Given the description of an element on the screen output the (x, y) to click on. 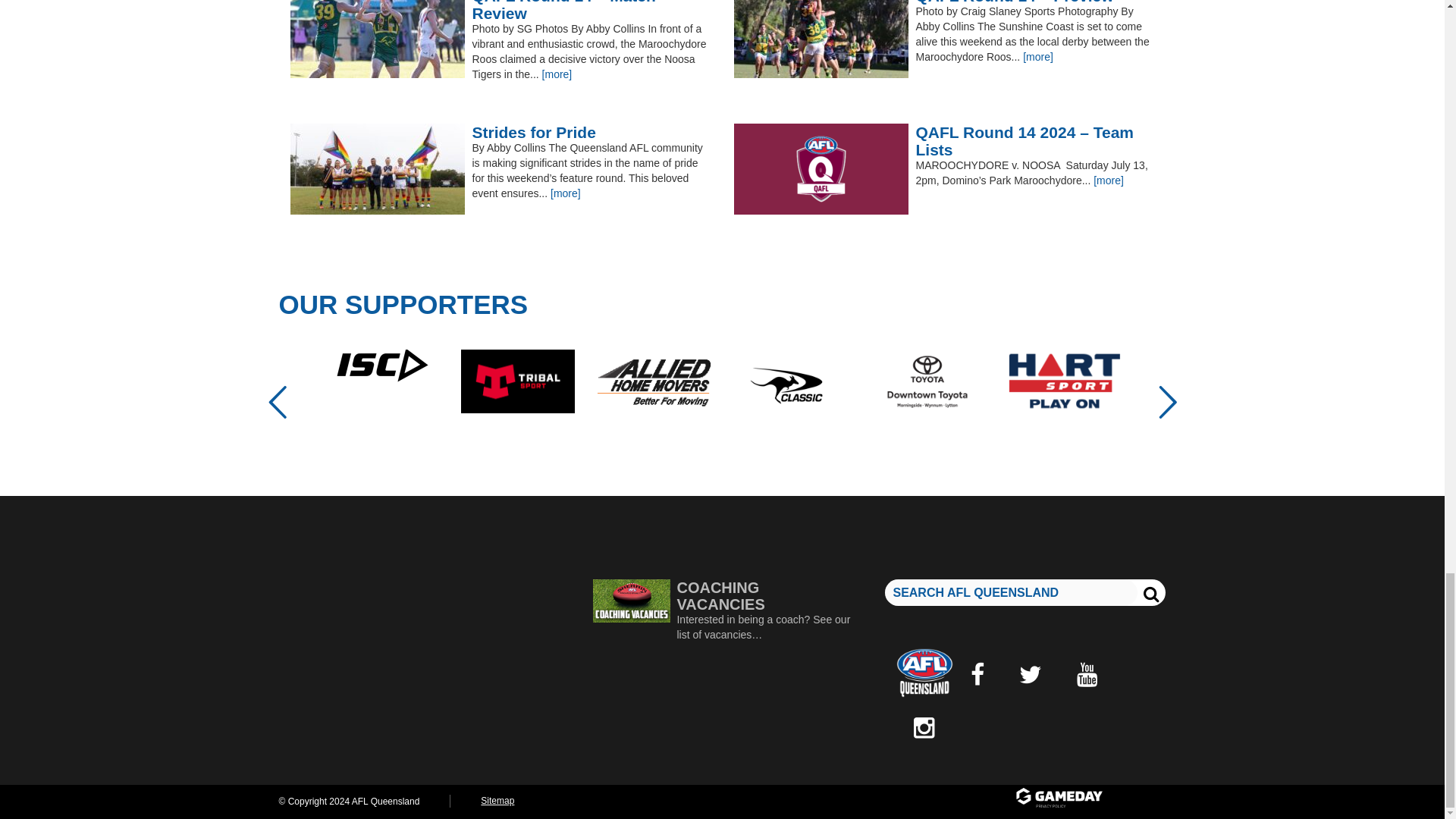
Powered by SportsTG (1089, 798)
Strides for Pride (499, 131)
